Given the description of an element on the screen output the (x, y) to click on. 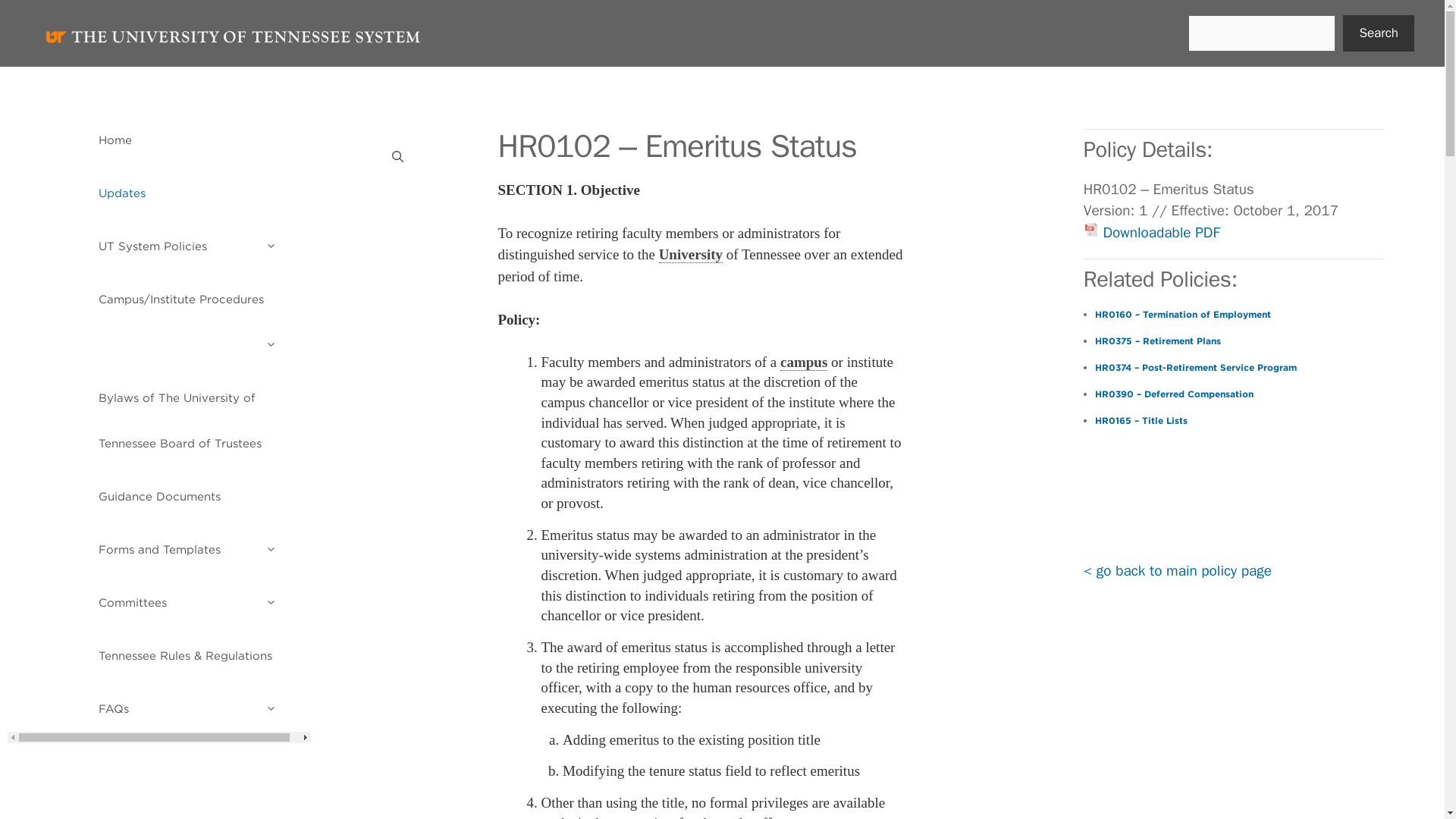
Search (1377, 33)
